Given the description of an element on the screen output the (x, y) to click on. 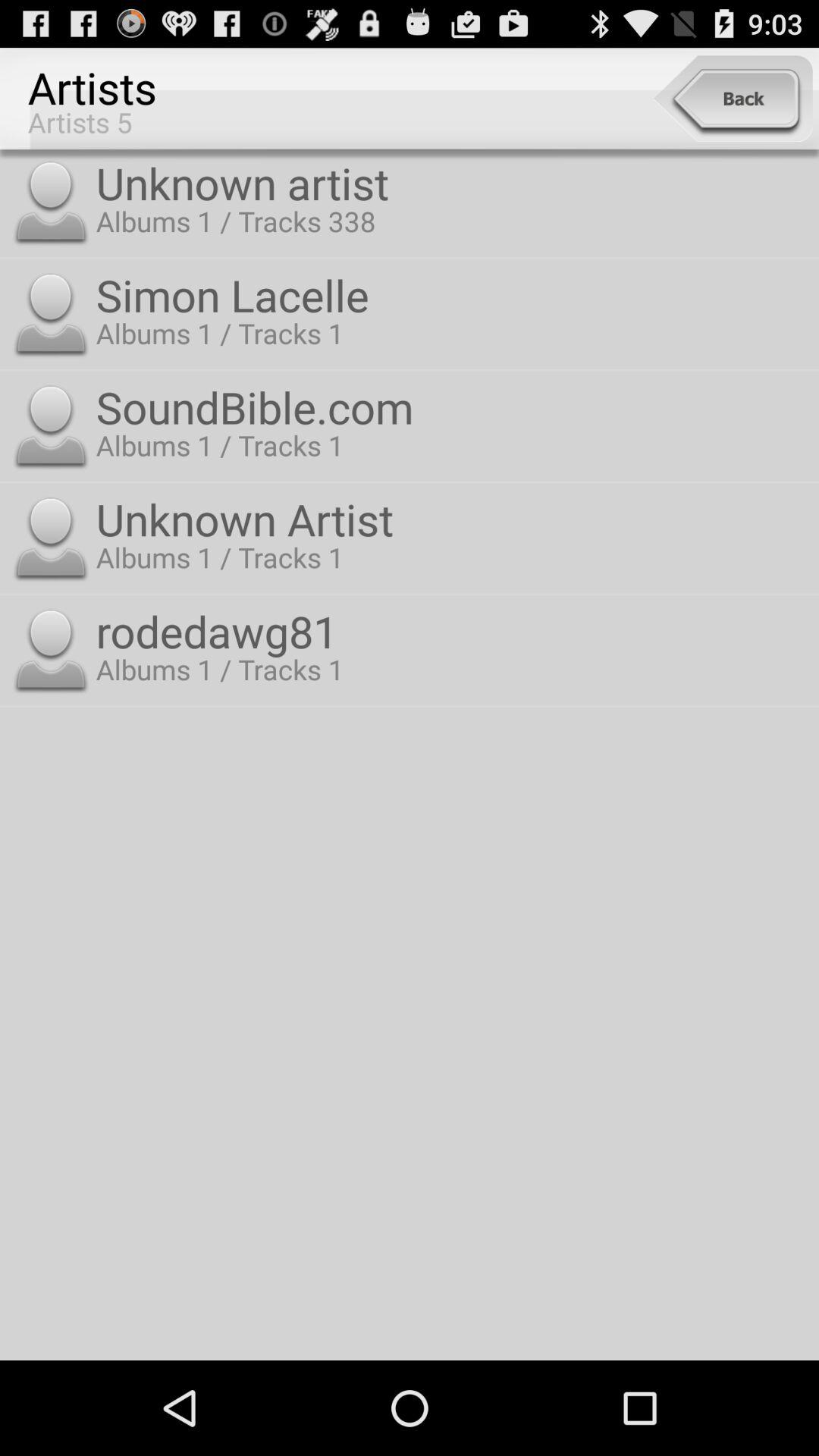
select the app above the unknown artist icon (732, 98)
